Given the description of an element on the screen output the (x, y) to click on. 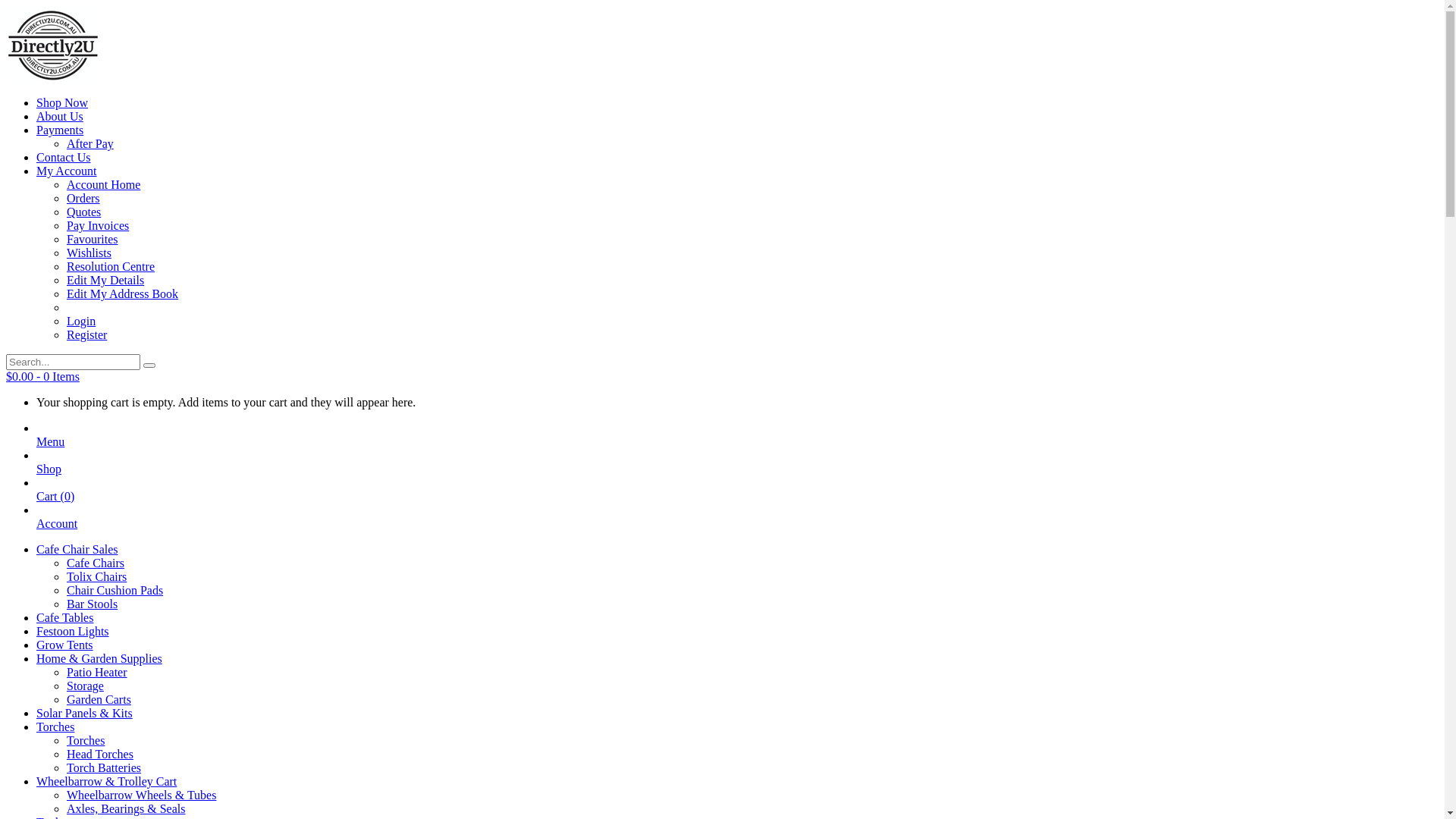
$0.00 - 0 Items Element type: text (42, 376)
Payments Element type: text (59, 129)
Festoon Lights Element type: text (72, 630)
Garden Carts Element type: text (98, 699)
Chair Cushion Pads Element type: text (114, 589)
Torches Element type: text (85, 740)
Head Torches Element type: text (99, 753)
Login Element type: text (80, 320)
Edit My Details Element type: text (105, 279)
Register Element type: text (86, 334)
Favourites Element type: text (92, 238)
Torch Batteries Element type: text (103, 767)
Account Element type: text (56, 530)
Tolix Chairs Element type: text (96, 576)
Menu Element type: text (50, 448)
Directly2U Element type: hover (52, 76)
Edit My Address Book Element type: text (122, 293)
Wheelbarrow Wheels & Tubes Element type: text (141, 794)
After Pay Element type: text (89, 143)
Cafe Tables Element type: text (64, 617)
Cafe Chairs Element type: text (95, 562)
About Us Element type: text (59, 115)
Axles, Bearings & Seals Element type: text (125, 808)
Contact Us Element type: text (63, 156)
Wishlists Element type: text (88, 252)
Cart (0) Element type: text (55, 502)
Storage Element type: text (84, 685)
Orders Element type: text (83, 197)
Account Home Element type: text (103, 184)
Bar Stools Element type: text (91, 603)
Torches Element type: text (55, 726)
Home & Garden Supplies Element type: text (99, 658)
Grow Tents Element type: text (64, 644)
Quotes Element type: text (83, 211)
Pay Invoices Element type: text (97, 225)
Shop Element type: text (48, 475)
Solar Panels & Kits Element type: text (84, 712)
Cafe Chair Sales Element type: text (77, 548)
Wheelbarrow & Trolley Cart Element type: text (106, 781)
My Account Element type: text (66, 170)
Shop Now Element type: text (61, 102)
Patio Heater Element type: text (96, 671)
Resolution Centre Element type: text (110, 266)
Search Element type: text (149, 365)
